Given the description of an element on the screen output the (x, y) to click on. 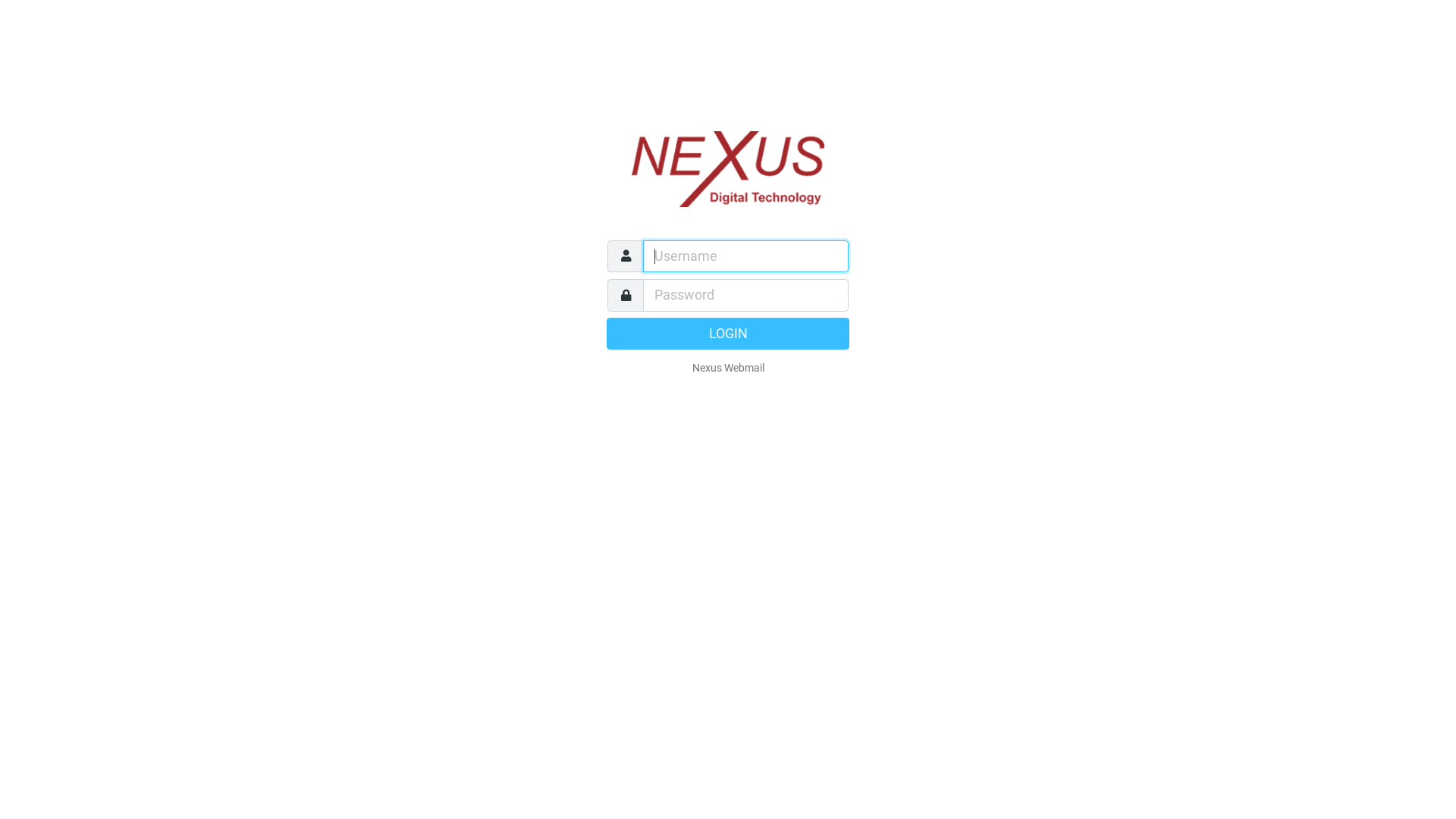
LOGIN Element type: text (727, 332)
